Given the description of an element on the screen output the (x, y) to click on. 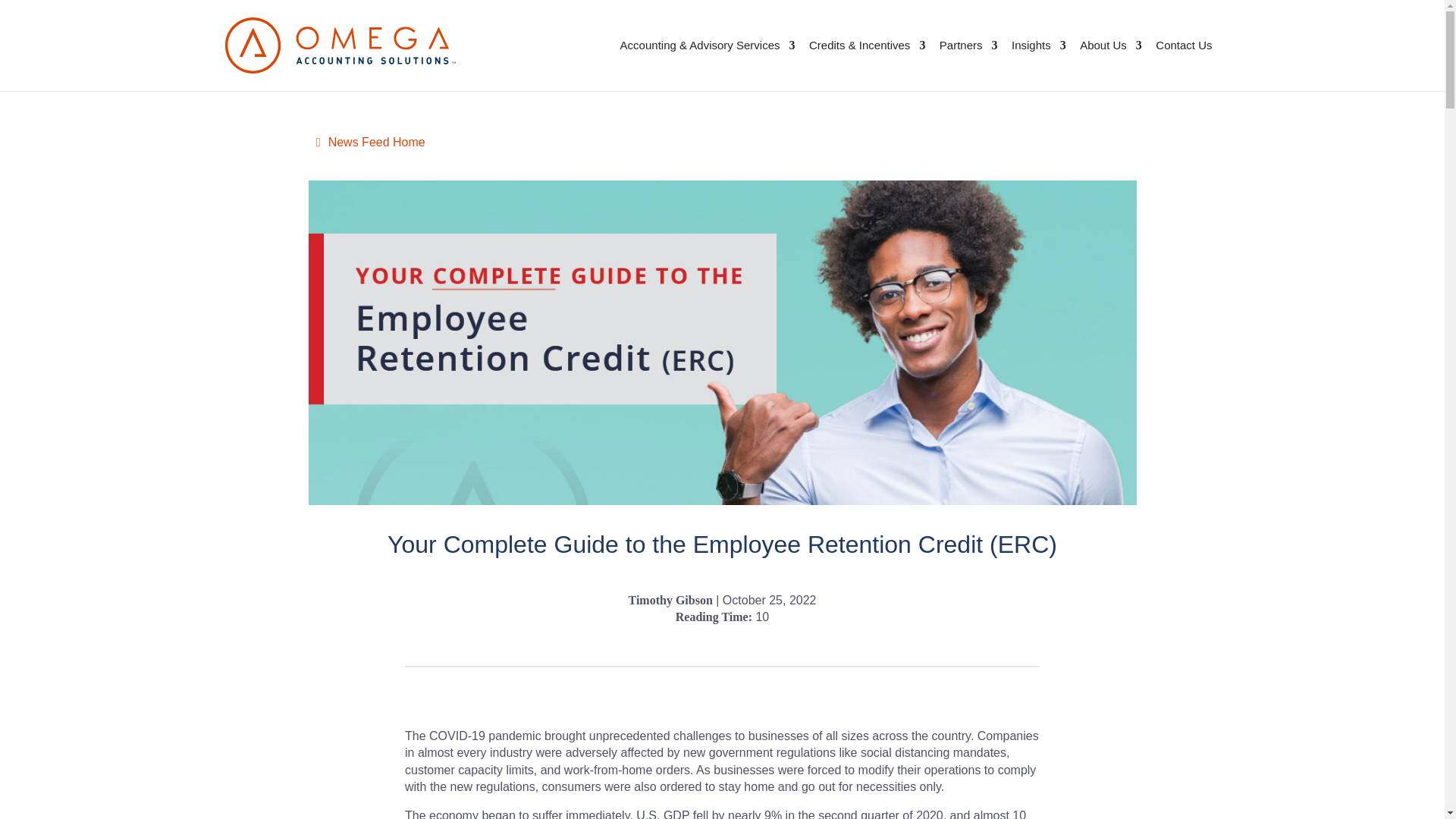
Insights (1038, 65)
News Feed Home (370, 141)
Contact Us (1183, 65)
Partners (968, 65)
About Us (1110, 65)
